Given the description of an element on the screen output the (x, y) to click on. 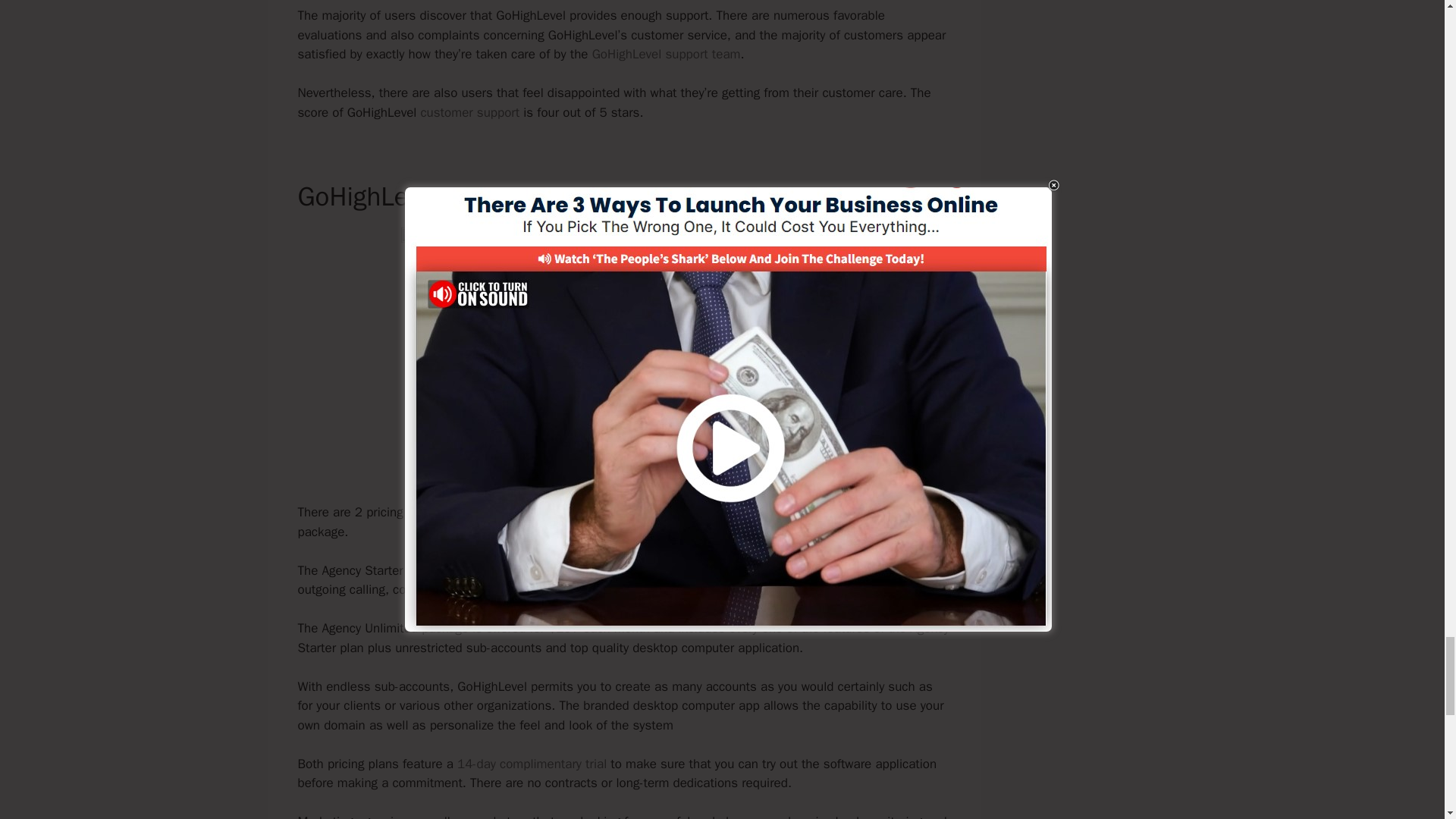
14-day complimentary trial (532, 763)
GoHighLevel support team (666, 53)
customer support (469, 112)
